Given the description of an element on the screen output the (x, y) to click on. 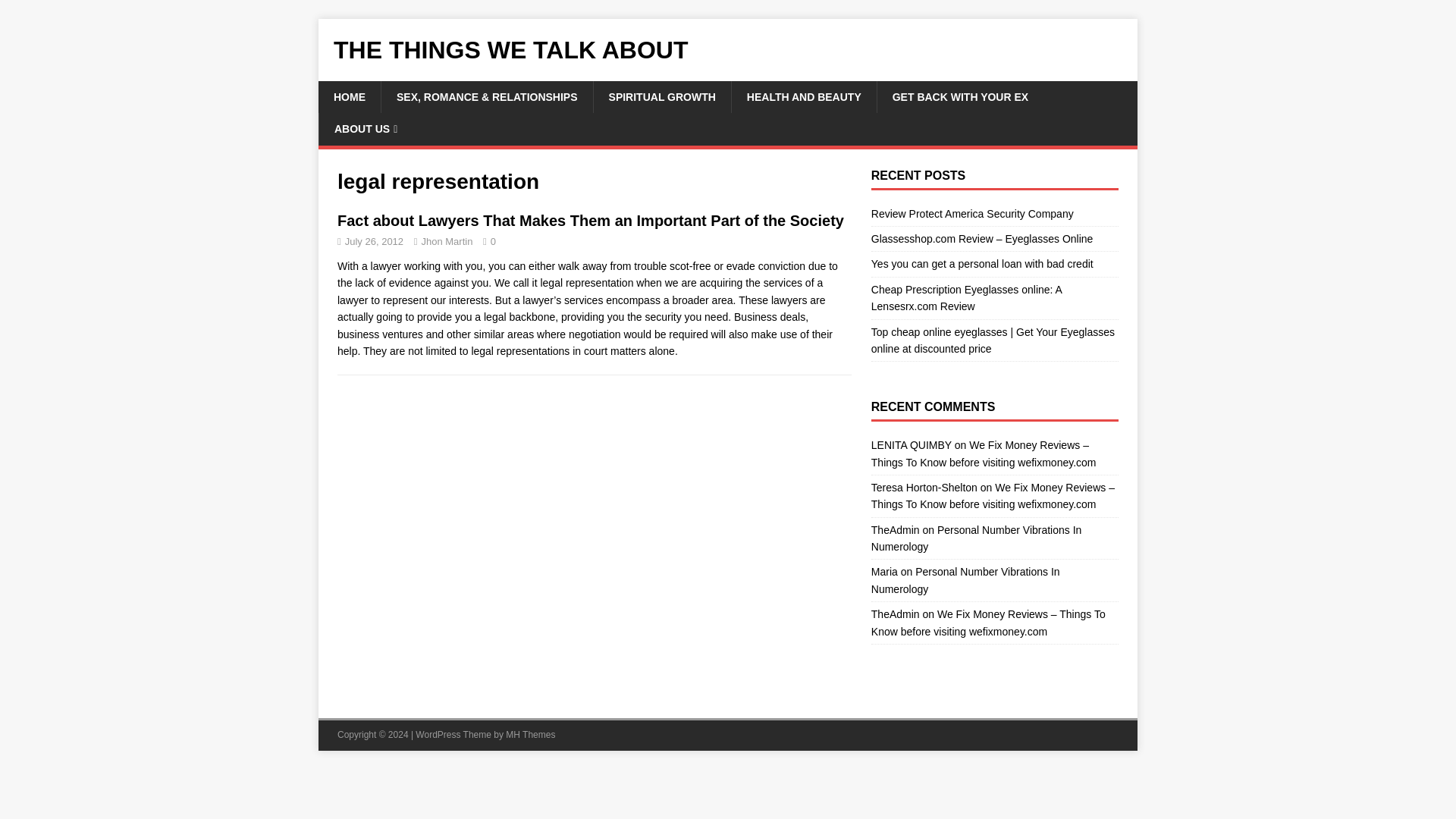
GET BACK WITH YOUR EX (959, 97)
HEALTH AND BEAUTY (803, 97)
TheAdmin (895, 530)
Yes you can get a personal loan with bad credit (981, 263)
TheAdmin (895, 613)
ABOUT US (365, 128)
Personal Number Vibrations In Numerology (964, 579)
HOME (349, 97)
THE THINGS WE TALK ABOUT (727, 49)
Review Protect America Security Company (972, 214)
Cheap Prescription Eyeglasses online: A Lensesrx.com Review (965, 297)
The Things We Talk About (727, 49)
Personal Number Vibrations In Numerology (975, 538)
SPIRITUAL GROWTH (661, 97)
